Given the description of an element on the screen output the (x, y) to click on. 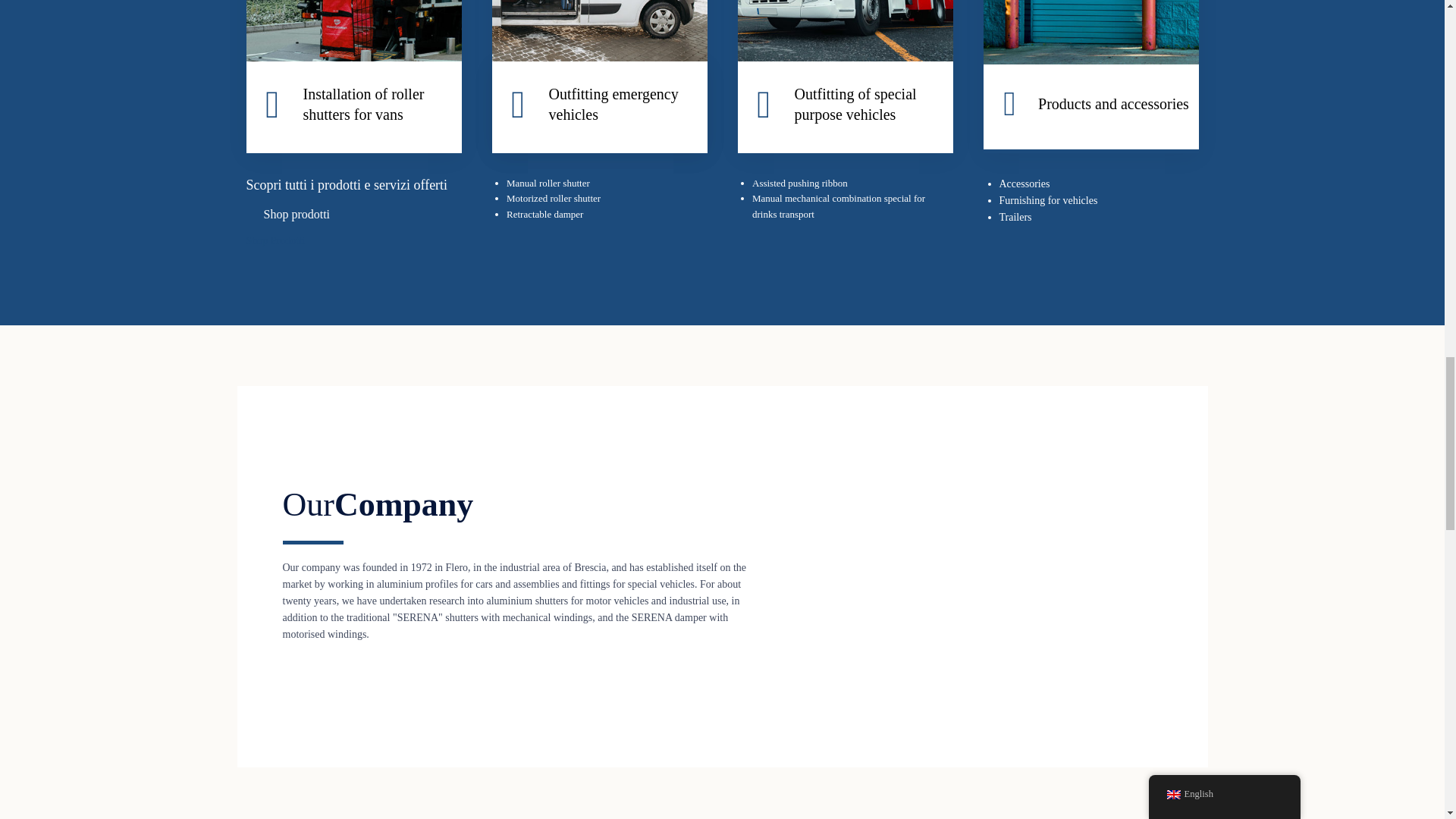
furgoni (353, 57)
prodotti-1 (1090, 60)
prodotti-1 (1090, 32)
veicoli-em-2 (599, 57)
furgoni (353, 30)
veicoli-em-2 (599, 30)
veic (844, 30)
veic (844, 57)
